Given the description of an element on the screen output the (x, y) to click on. 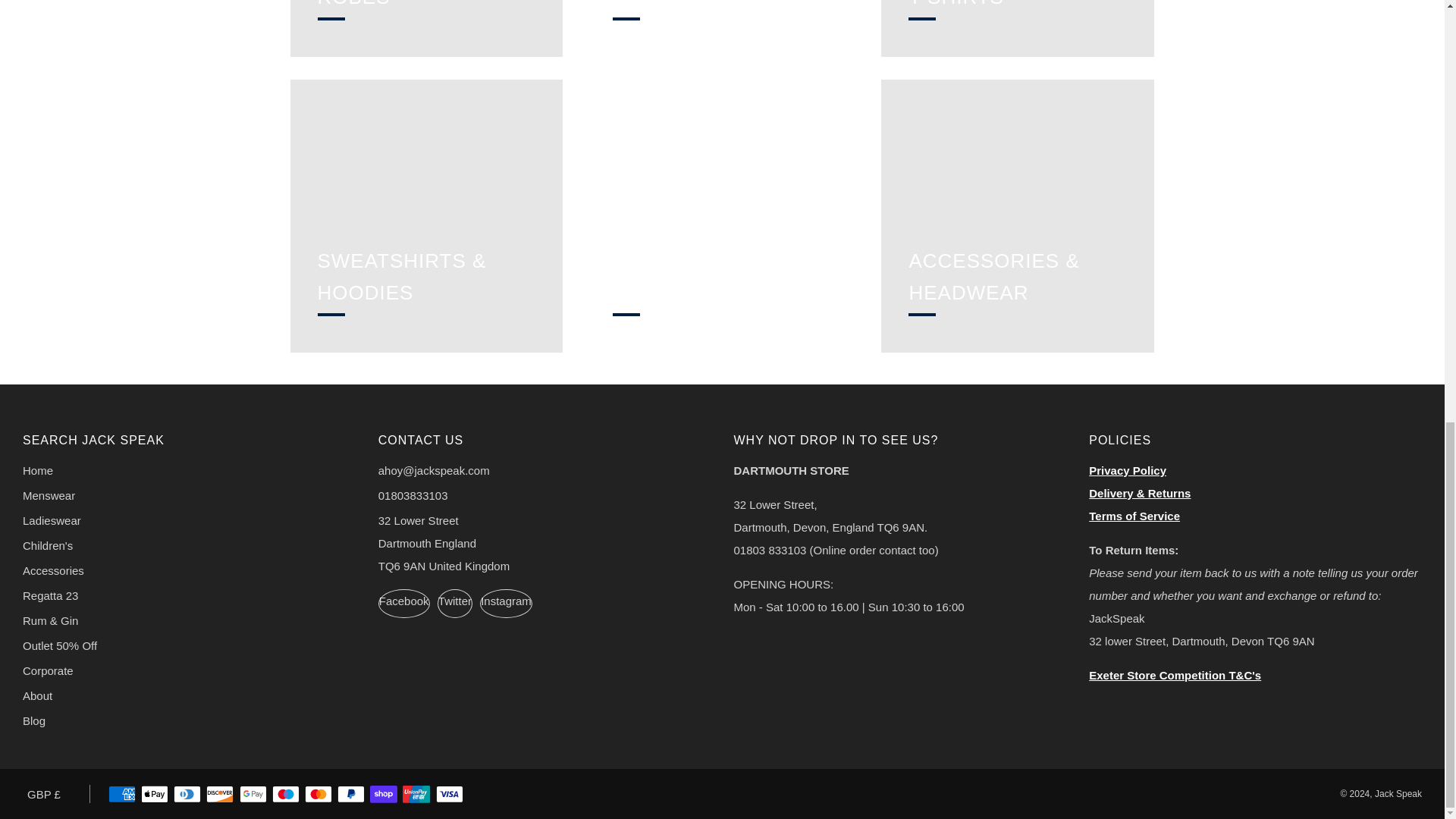
Privacy Policy (1127, 470)
Exeter Store Competition (1174, 675)
Terms of Service (1134, 515)
